Given the description of an element on the screen output the (x, y) to click on. 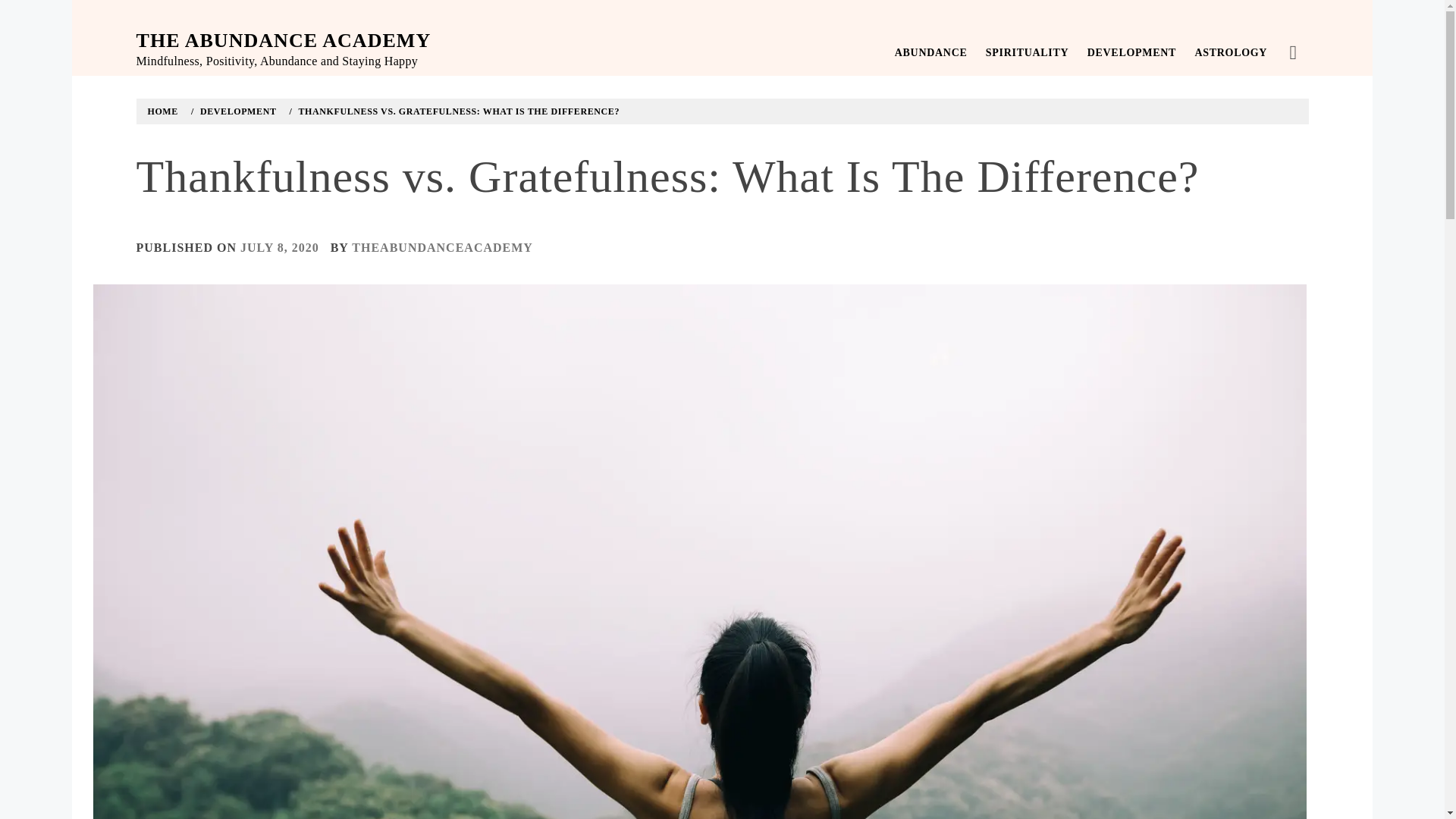
JULY 8, 2020 (279, 246)
Search (646, 37)
HOME (165, 111)
THEABUNDANCEACADEMY (442, 246)
THE ABUNDANCE ACADEMY (283, 40)
DEVELOPMENT (236, 111)
SPIRITUALITY (1027, 53)
THANKFULNESS VS. GRATEFULNESS: WHAT IS THE DIFFERENCE? (457, 111)
ASTROLOGY (1230, 53)
DEVELOPMENT (1131, 53)
ABUNDANCE (930, 53)
